Given the description of an element on the screen output the (x, y) to click on. 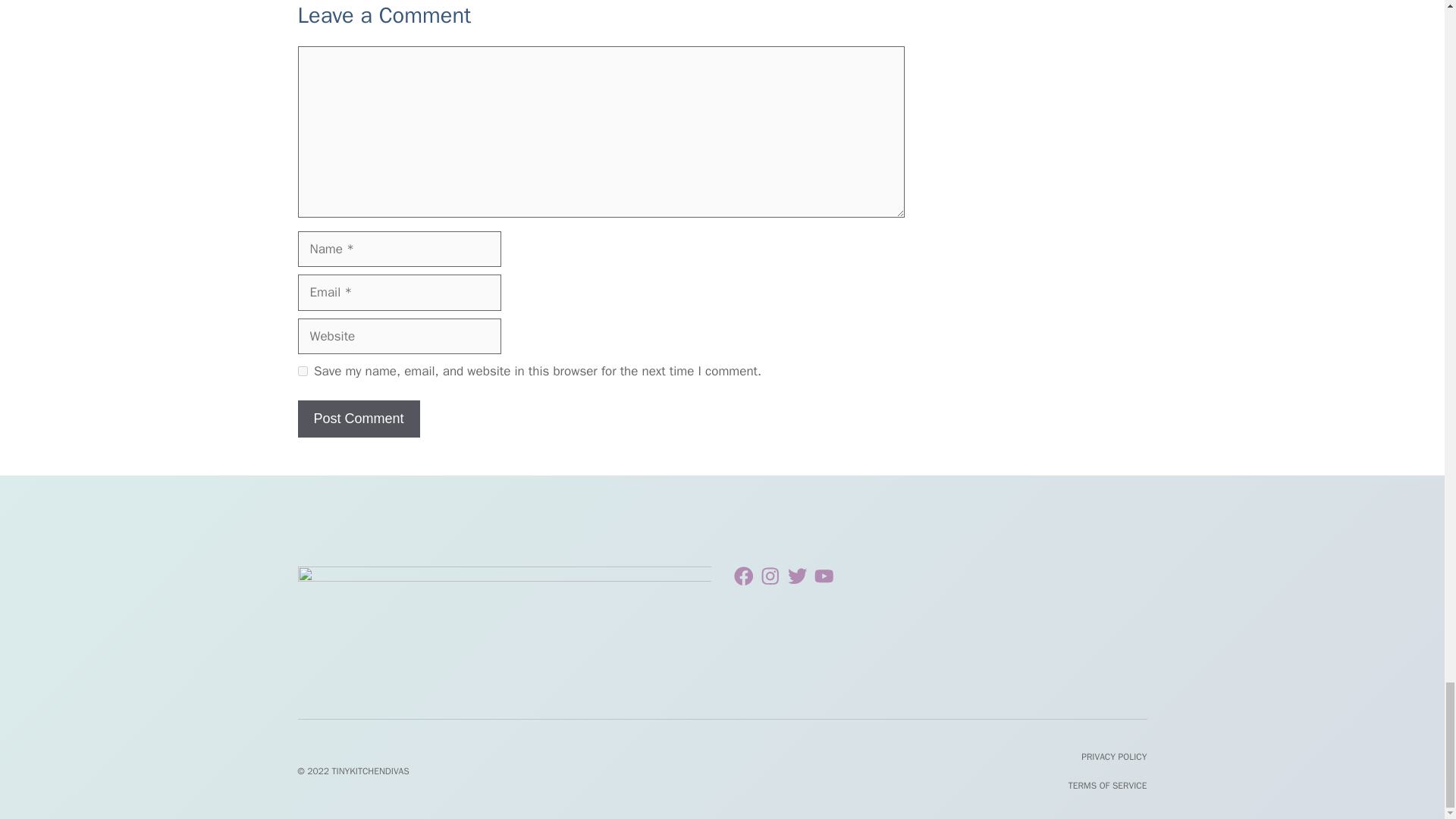
yes (302, 370)
Post Comment (358, 418)
Post Comment (358, 418)
